Given the description of an element on the screen output the (x, y) to click on. 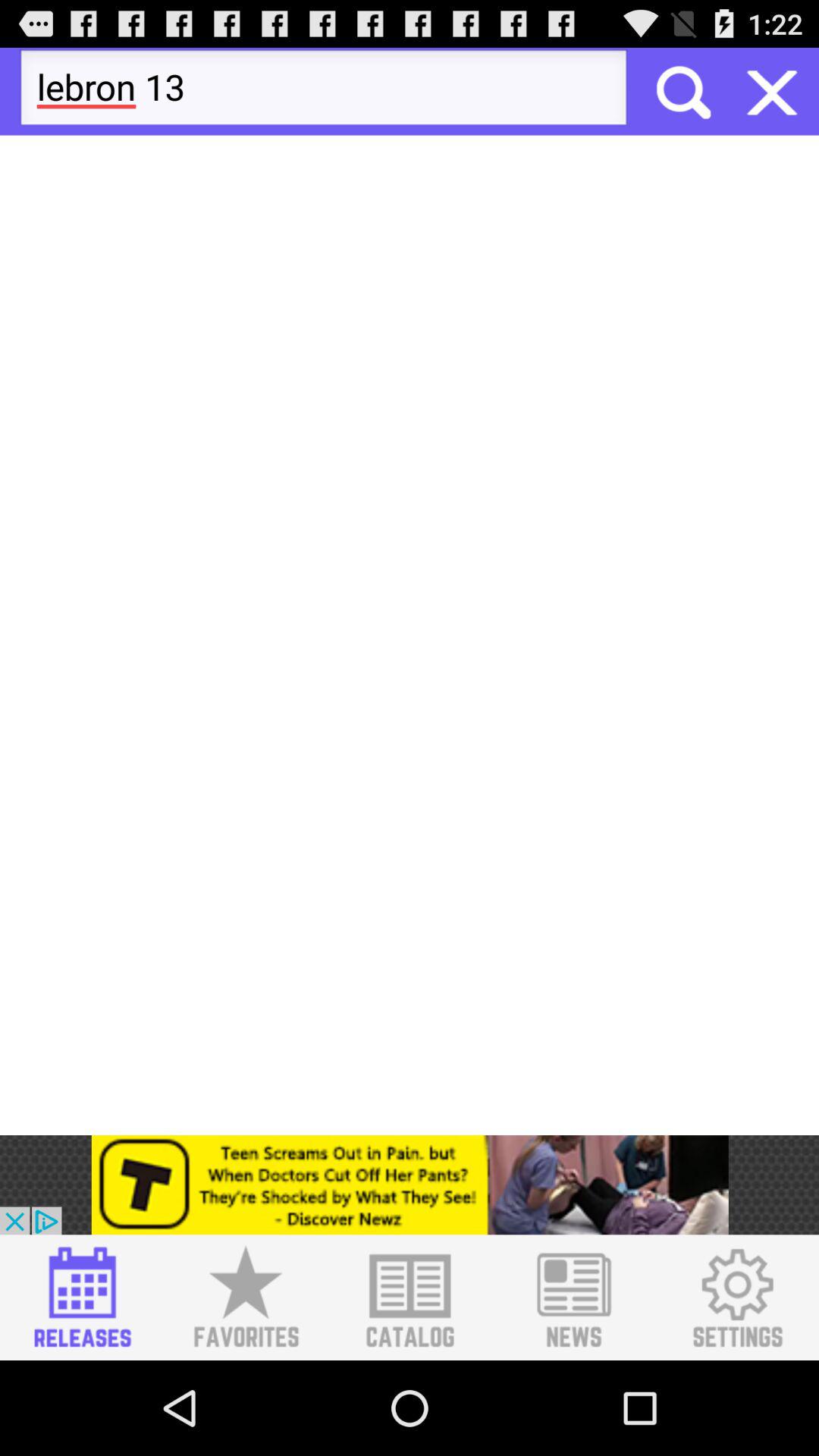
go to advertisement (409, 1297)
